Given the description of an element on the screen output the (x, y) to click on. 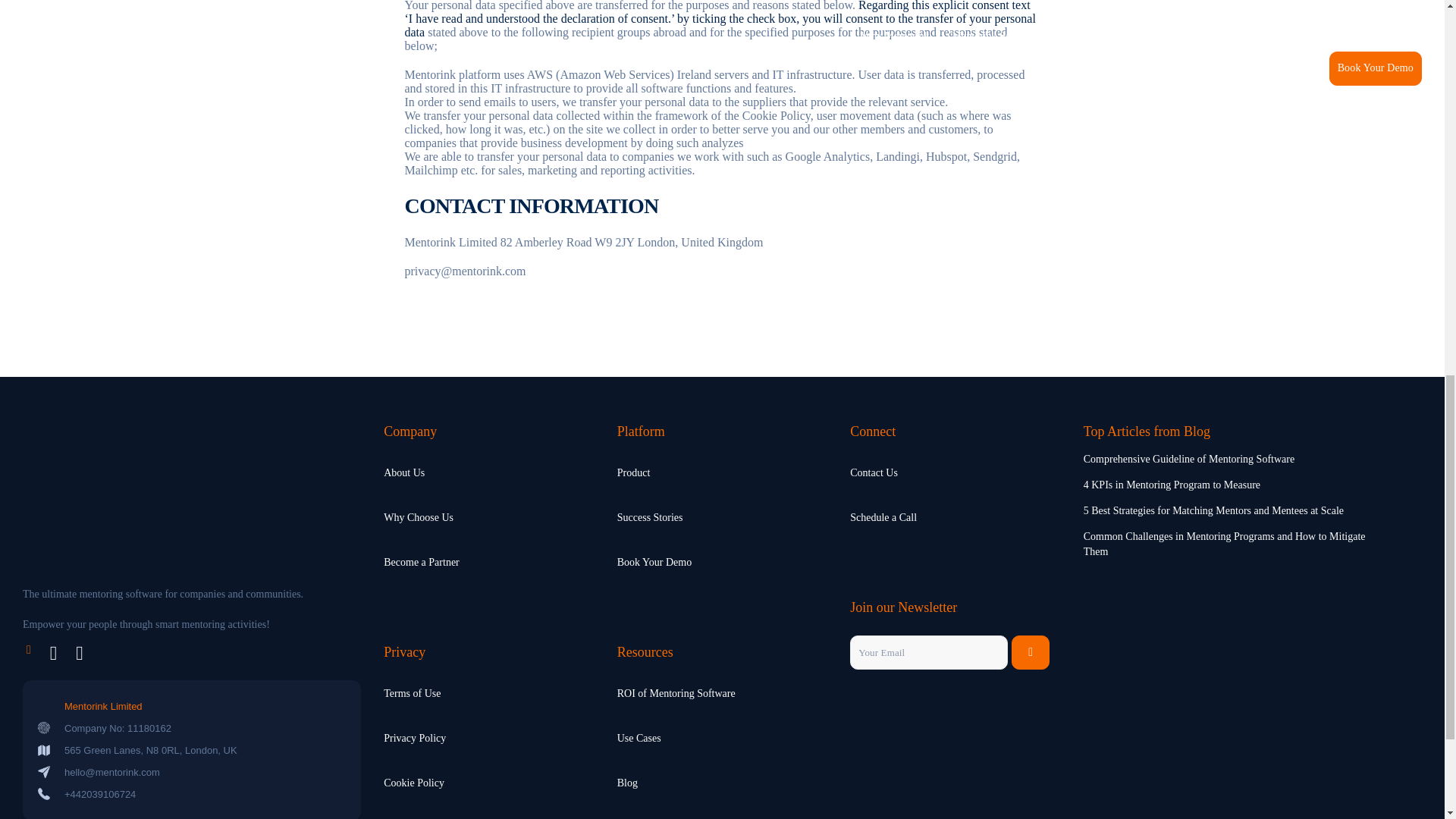
Book Your Demo (654, 562)
ROI of Mentoring Software (676, 693)
FAQ (627, 812)
Why Choose Us (418, 517)
Use Cases (639, 738)
About Us (404, 472)
Contact Us (874, 472)
Success Stories (649, 517)
Terms of Use (412, 693)
